Given the description of an element on the screen output the (x, y) to click on. 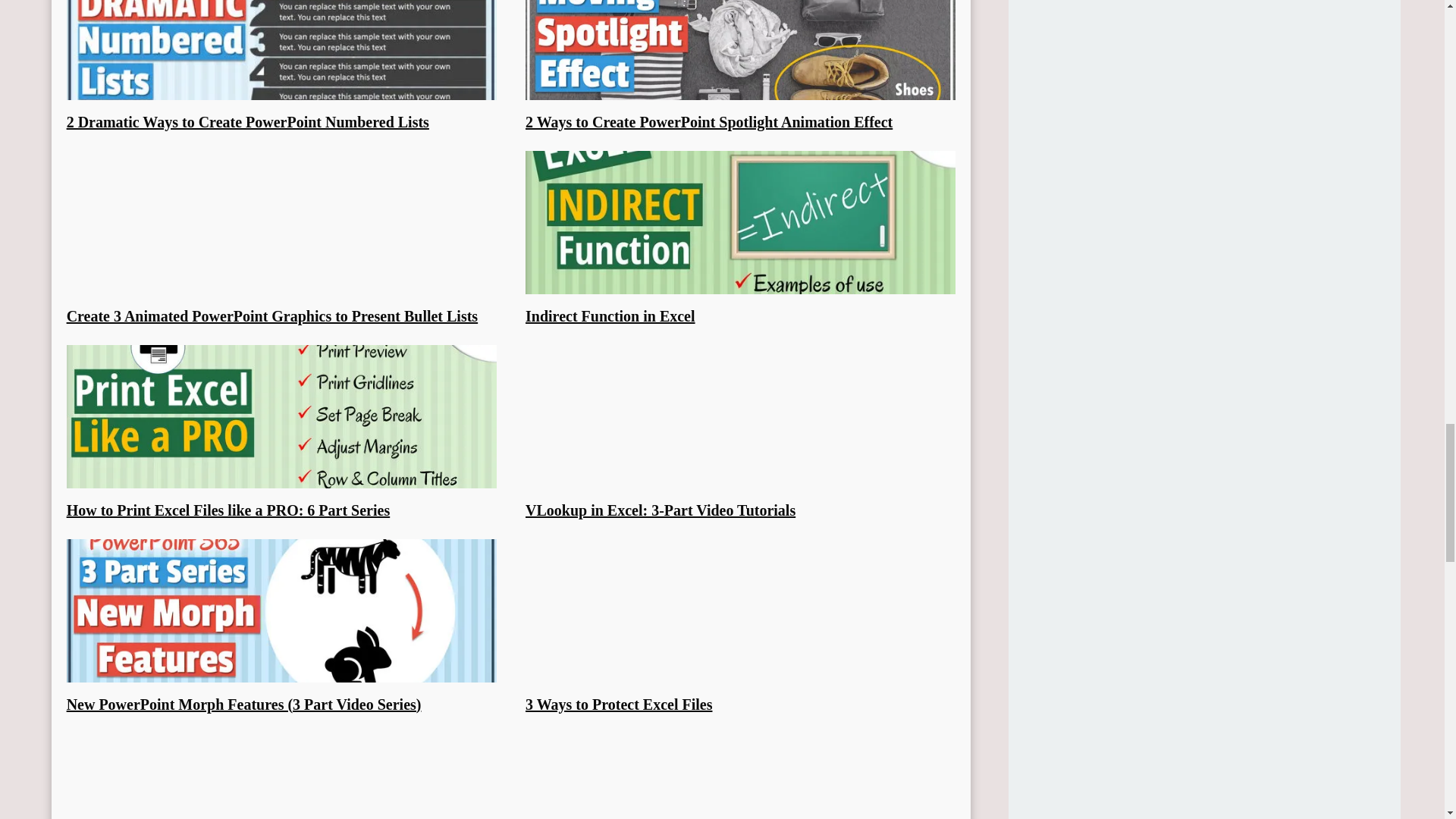
2 Ways to Create PowerPoint Spotlight Animation Effect (708, 121)
How to Print Excel Files like a PRO: 6 Part Series (228, 510)
3 Ways to Protect Excel Files (618, 704)
Indirect Function in Excel (610, 315)
VLookup in Excel: 3-Part Video Tutorials (659, 510)
VLookup in Excel: 3-Part Video Tutorials (659, 510)
How to Print Excel Files like a PRO: 6 Part Series (228, 510)
2 Dramatic Ways to Create PowerPoint Numbered Lists (247, 121)
